Given the description of an element on the screen output the (x, y) to click on. 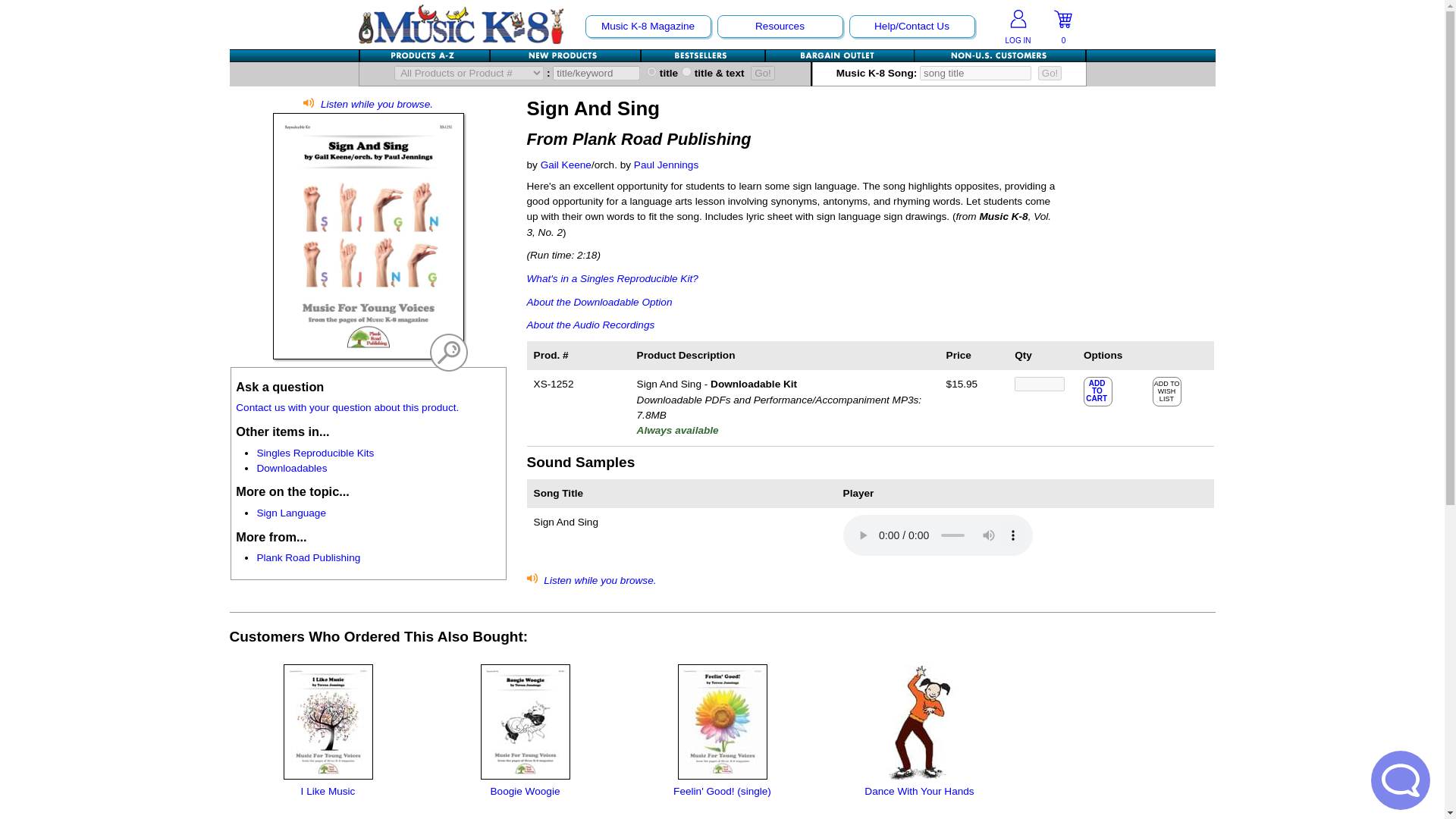
Bargain Outlet (839, 55)
Alphabetical Listing (424, 55)
Bestsellers (703, 55)
title (651, 71)
Go! (1049, 73)
MusicK8.com Worldwide (999, 55)
Music K-8 Magazine (647, 26)
New Products (564, 55)
Click the cover for a larger view. (448, 352)
ADD TOWISHLIST (1166, 390)
